Given the description of an element on the screen output the (x, y) to click on. 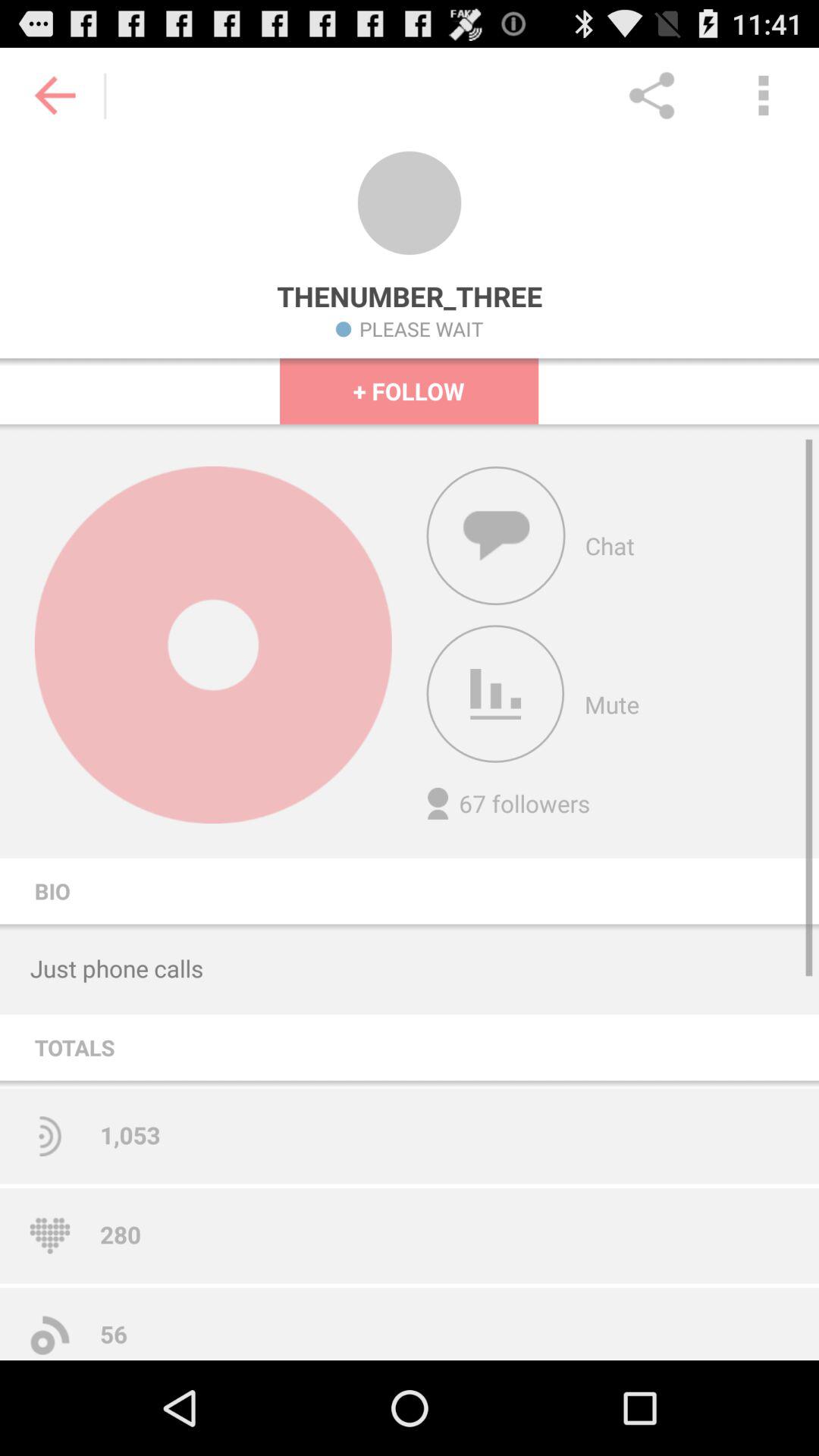
view stats (495, 694)
